Given the description of an element on the screen output the (x, y) to click on. 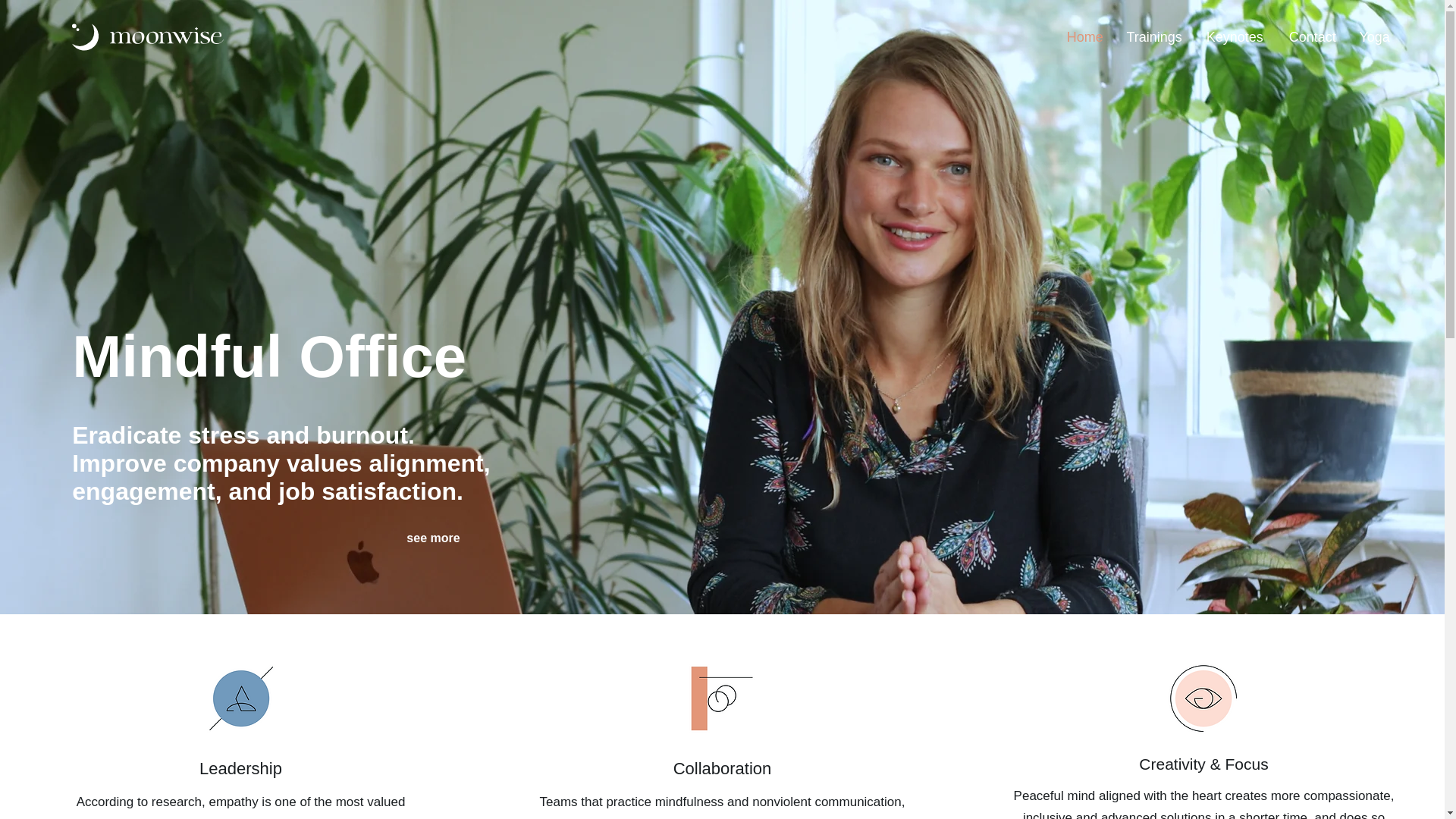
Contact (1311, 36)
Yoga (1374, 36)
see more (432, 538)
Keynotes (1234, 36)
Trainings (1154, 36)
Home (1084, 36)
